Given the description of an element on the screen output the (x, y) to click on. 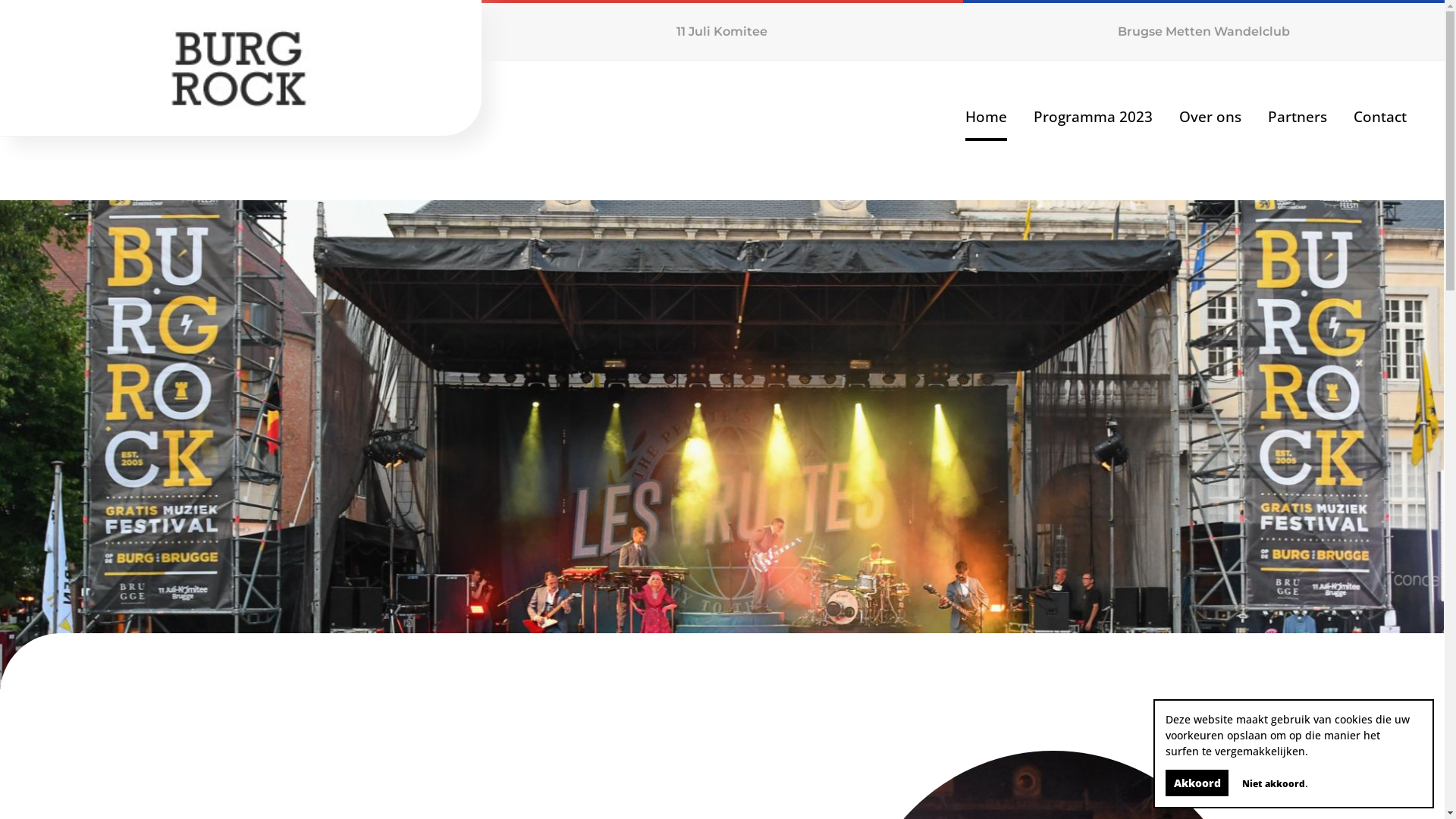
Home Element type: text (986, 117)
Akkoord Element type: text (1196, 782)
Burg Rock Element type: hover (240, 68)
11 Juli Komitee Element type: text (722, 30)
Over ons Element type: text (1210, 116)
Niet akkoord Element type: text (1273, 783)
Brugse Metten Wandelclub Element type: text (1203, 30)
Partners Element type: text (1297, 116)
Programma 2023 Element type: text (1092, 116)
Contact Element type: text (1379, 116)
